Given the description of an element on the screen output the (x, y) to click on. 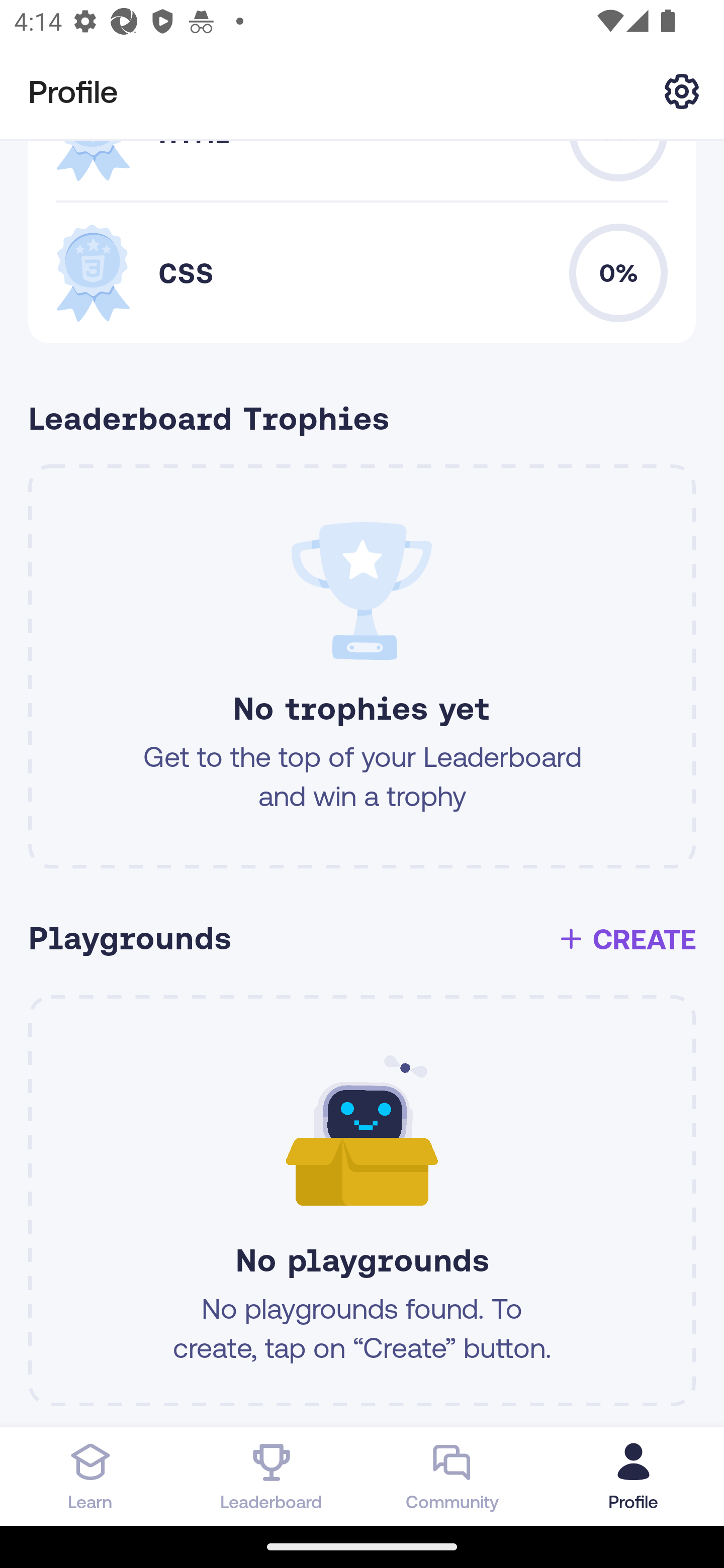
Settings (681, 90)
CSS 0.0 0% (361, 272)
Playgrounds CREATE (369, 938)
CREATE (626, 938)
Learn (90, 1475)
Leaderboard (271, 1475)
Community (452, 1475)
